Given the description of an element on the screen output the (x, y) to click on. 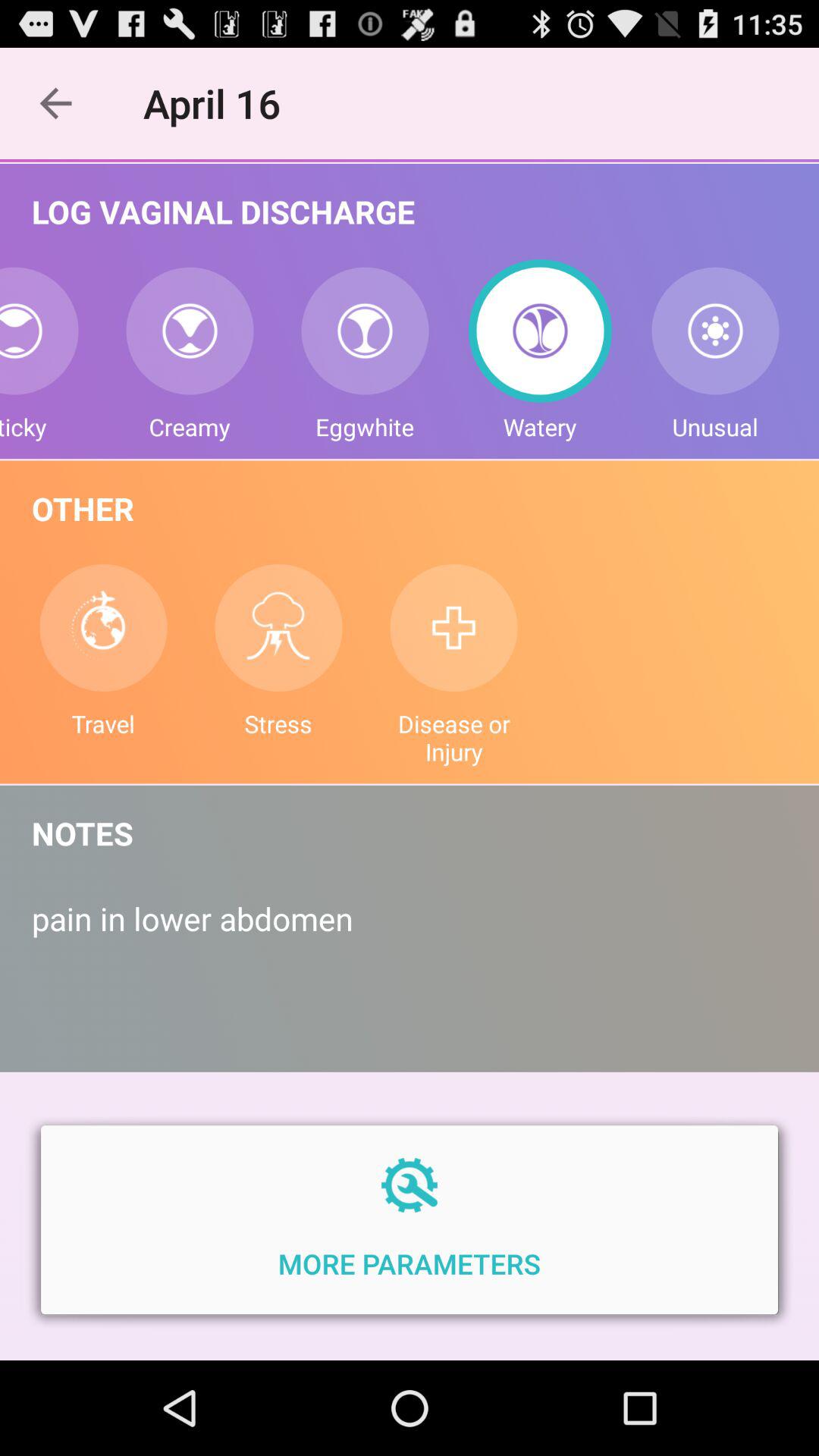
select pain in lower icon (409, 933)
